Given the description of an element on the screen output the (x, y) to click on. 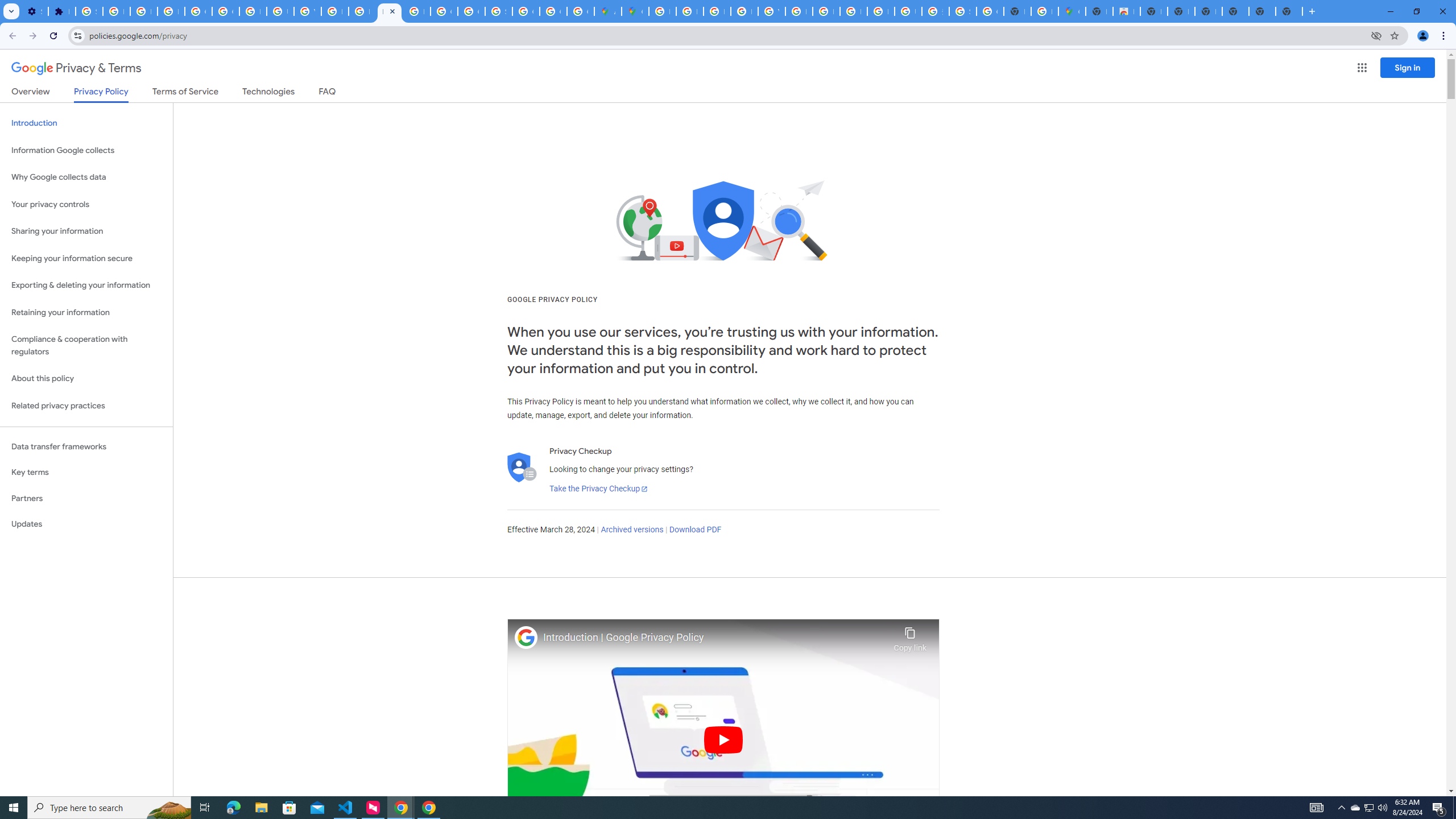
New Tab (1235, 11)
